Given the description of an element on the screen output the (x, y) to click on. 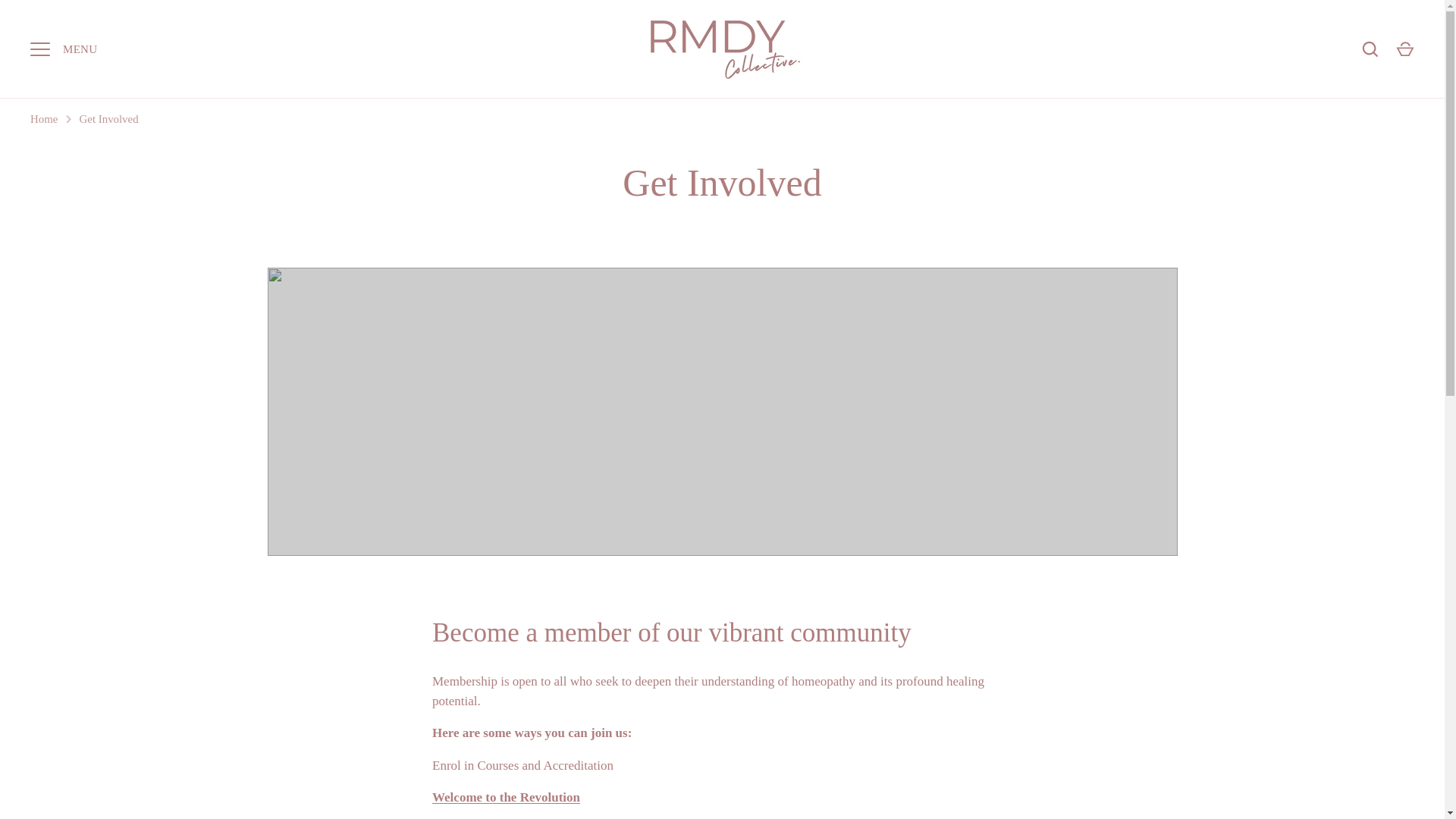
Get Involved (109, 118)
MENU (39, 49)
Home (44, 118)
Welcome to the Revolution (505, 797)
